Given the description of an element on the screen output the (x, y) to click on. 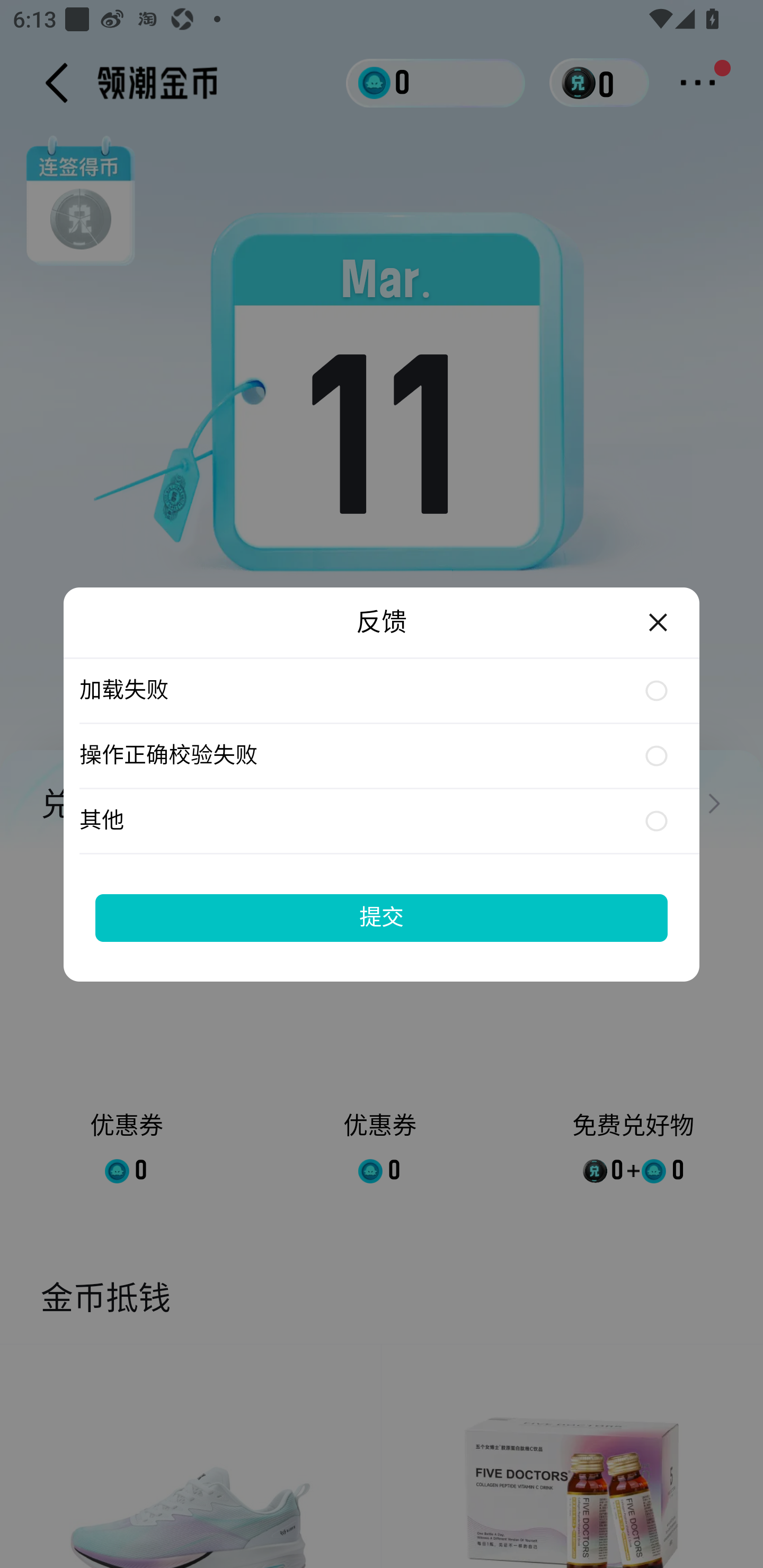
提交 (381, 917)
